Given the description of an element on the screen output the (x, y) to click on. 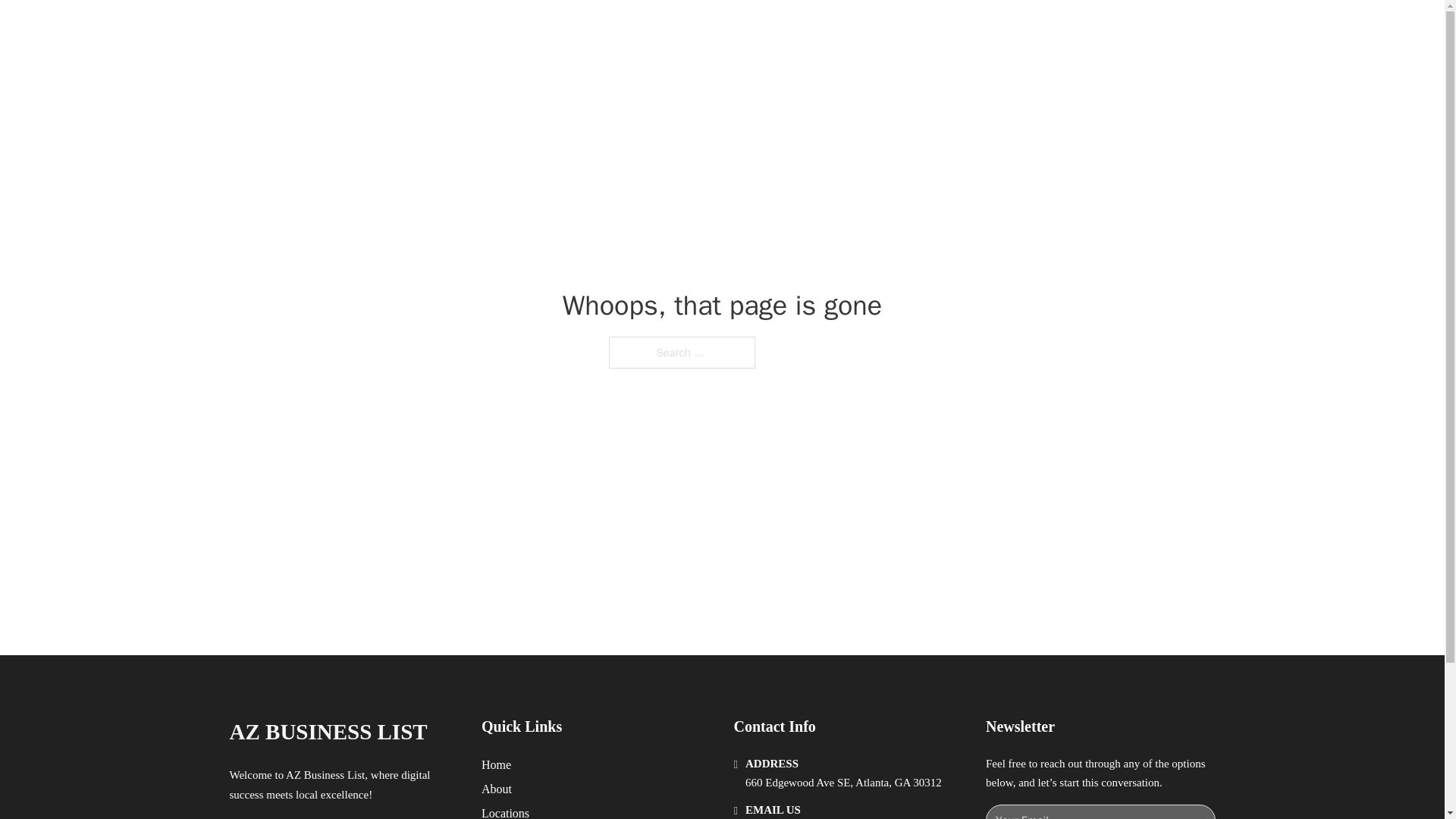
AZ BUSINESS LIST (403, 28)
About (496, 788)
LOCATIONS (990, 29)
Home (496, 764)
HOME (919, 29)
Locations (505, 811)
AZ BUSINESS LIST (327, 732)
